Given the description of an element on the screen output the (x, y) to click on. 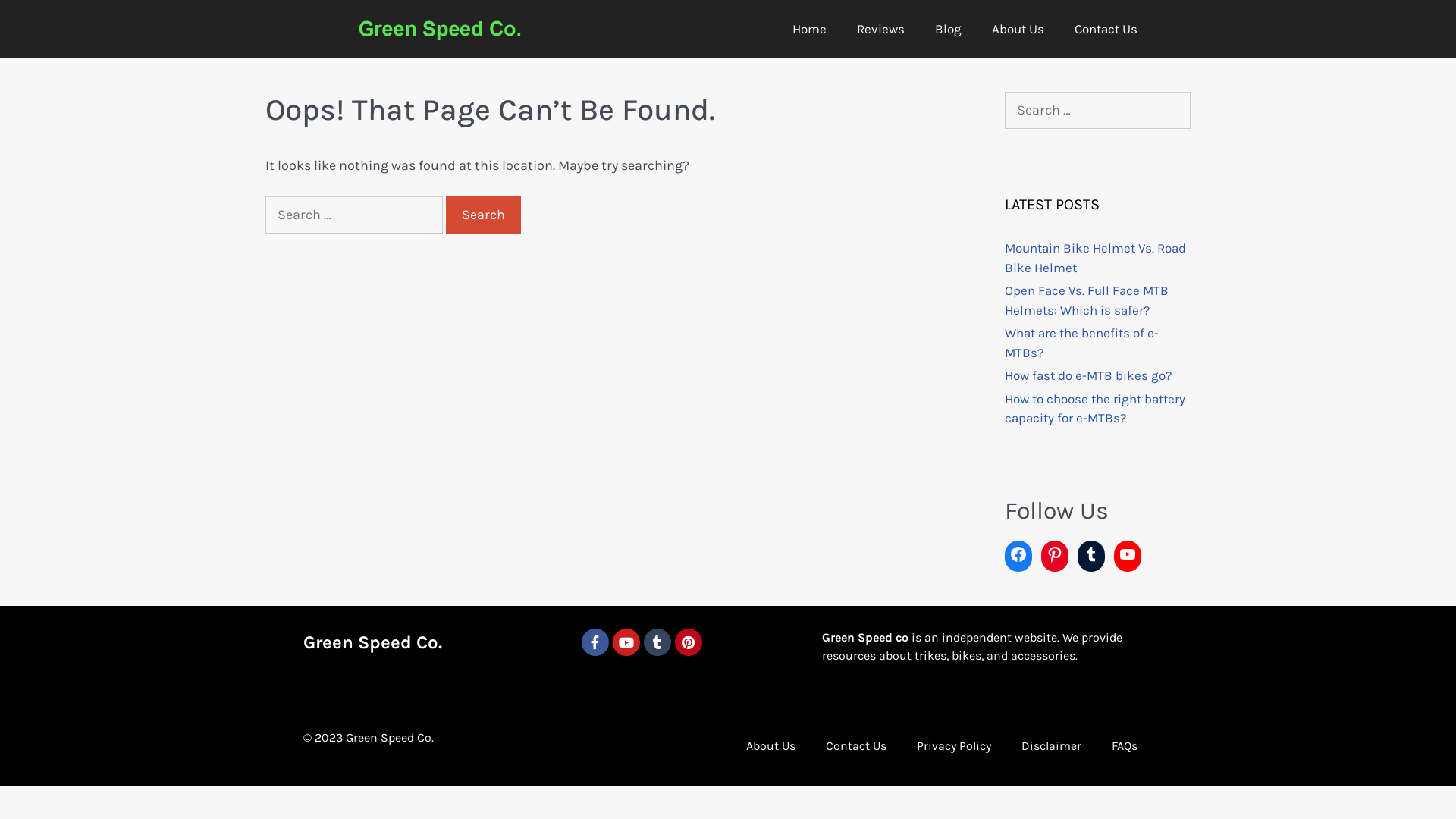
Disclaimer Element type: text (1051, 745)
Mountain Bike Helmet Vs. Road Bike Helmet Element type: text (1095, 257)
Search for: Element type: hover (1097, 109)
Contact Us Element type: text (1105, 28)
Search Element type: text (482, 214)
Open Face Vs. Full Face MTB Helmets: Which is safer? Element type: text (1086, 299)
Reviews Element type: text (880, 28)
Green Speed Co. Element type: text (372, 641)
Home Element type: text (809, 28)
Search for: Element type: hover (353, 214)
What are the benefits of e-MTBs? Element type: text (1081, 342)
How to choose the right battery capacity for e-MTBs? Element type: text (1094, 408)
Search Element type: text (37, 18)
Privacy Policy Element type: text (953, 745)
Blog Element type: text (947, 28)
Contact Us Element type: text (855, 745)
How fast do e-MTB bikes go? Element type: text (1087, 374)
About Us Element type: text (1017, 28)
About Us Element type: text (770, 745)
FAQs Element type: text (1124, 745)
Untitled-1 Element type: hover (439, 31)
